Given the description of an element on the screen output the (x, y) to click on. 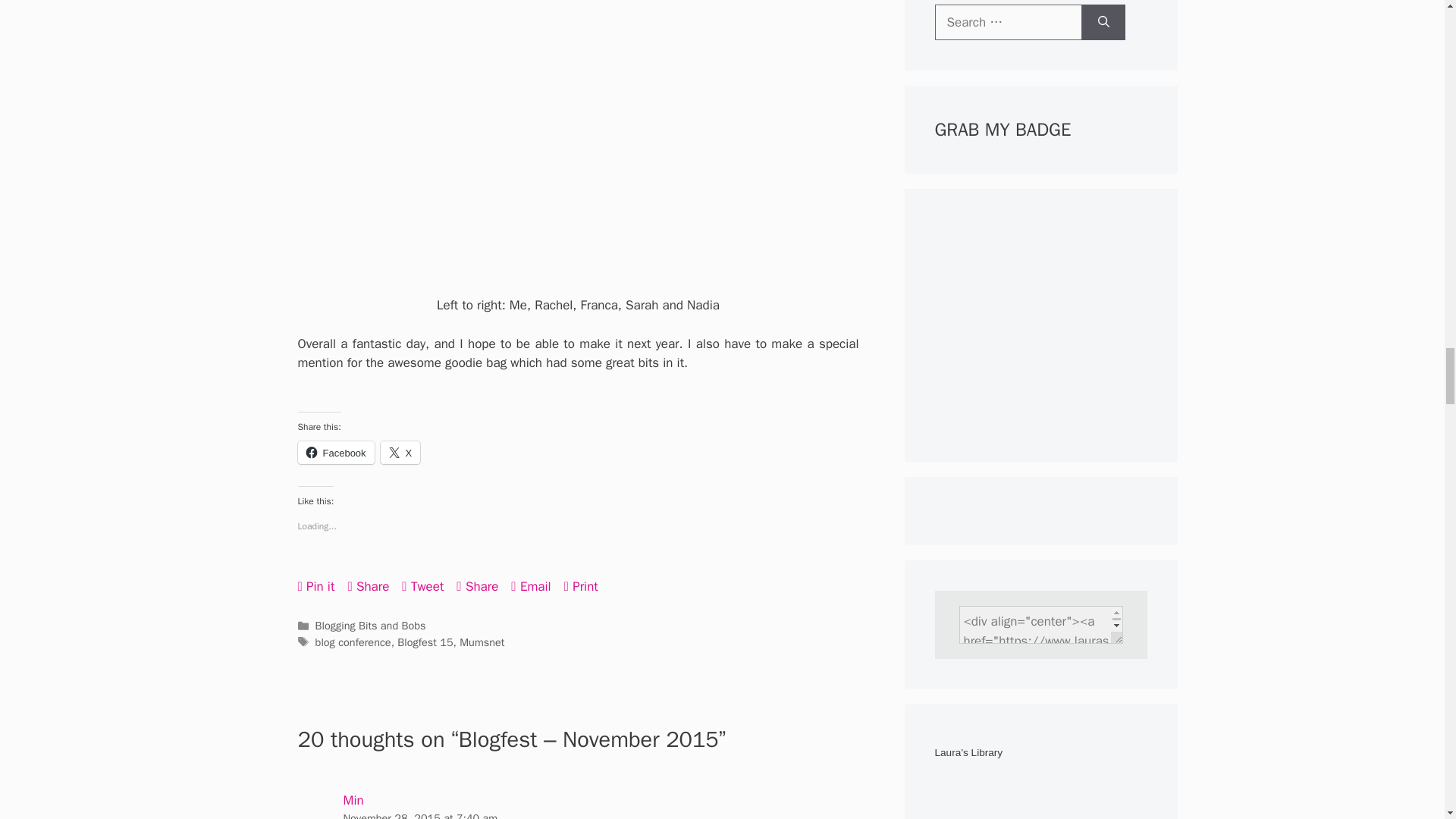
Click to share on Facebook (335, 452)
Share by Email (530, 585)
Search for: (1007, 22)
Click to share on X (400, 452)
